Given the description of an element on the screen output the (x, y) to click on. 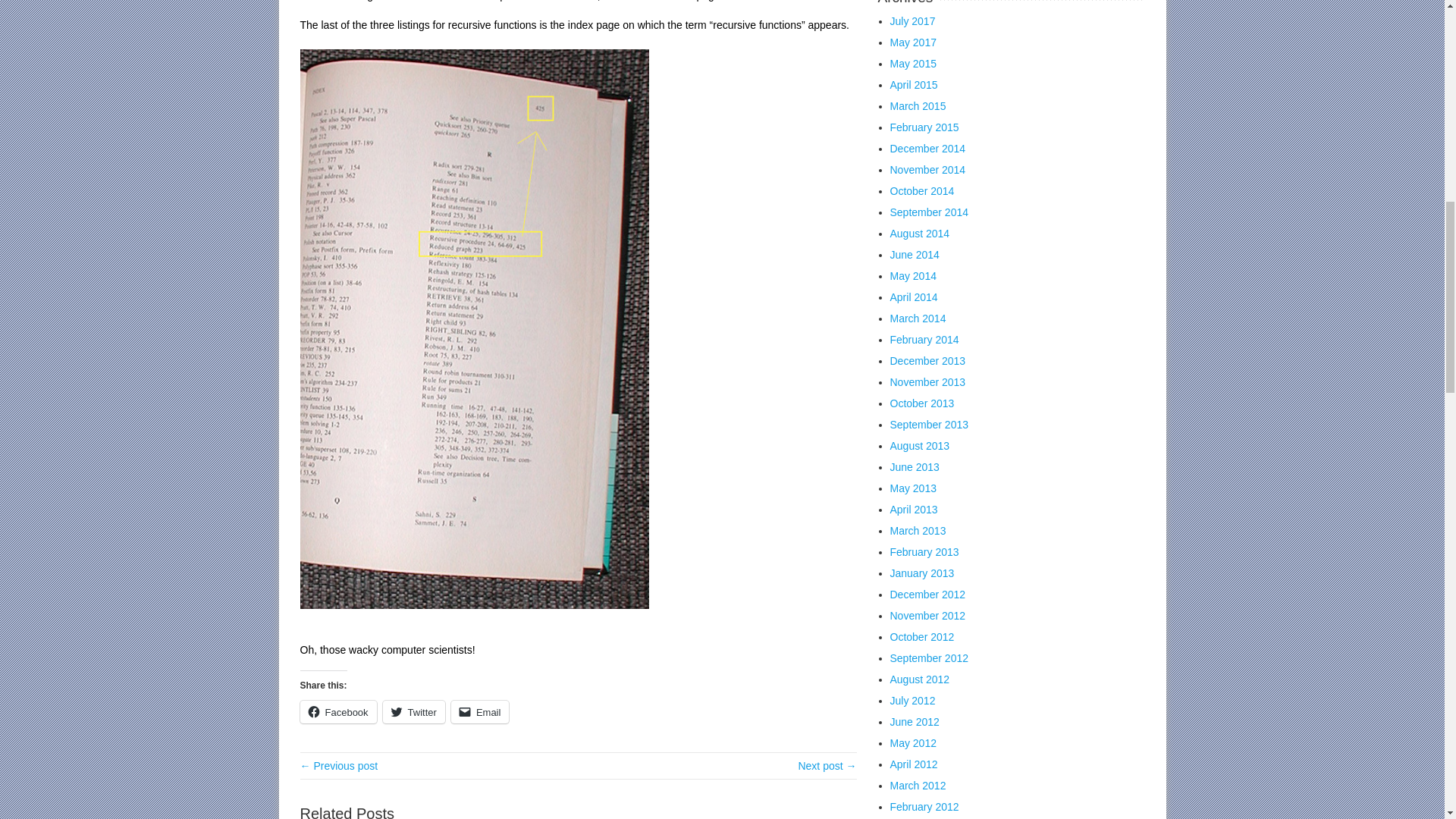
Click to share on Twitter (413, 712)
Facebook (338, 712)
Two Thanksgiving Day traditional foods (826, 766)
Twitter (413, 712)
Changing communication and learning (338, 766)
Email (480, 712)
Click to share on Facebook (338, 712)
Click to email a link to a friend (480, 712)
